Given the description of an element on the screen output the (x, y) to click on. 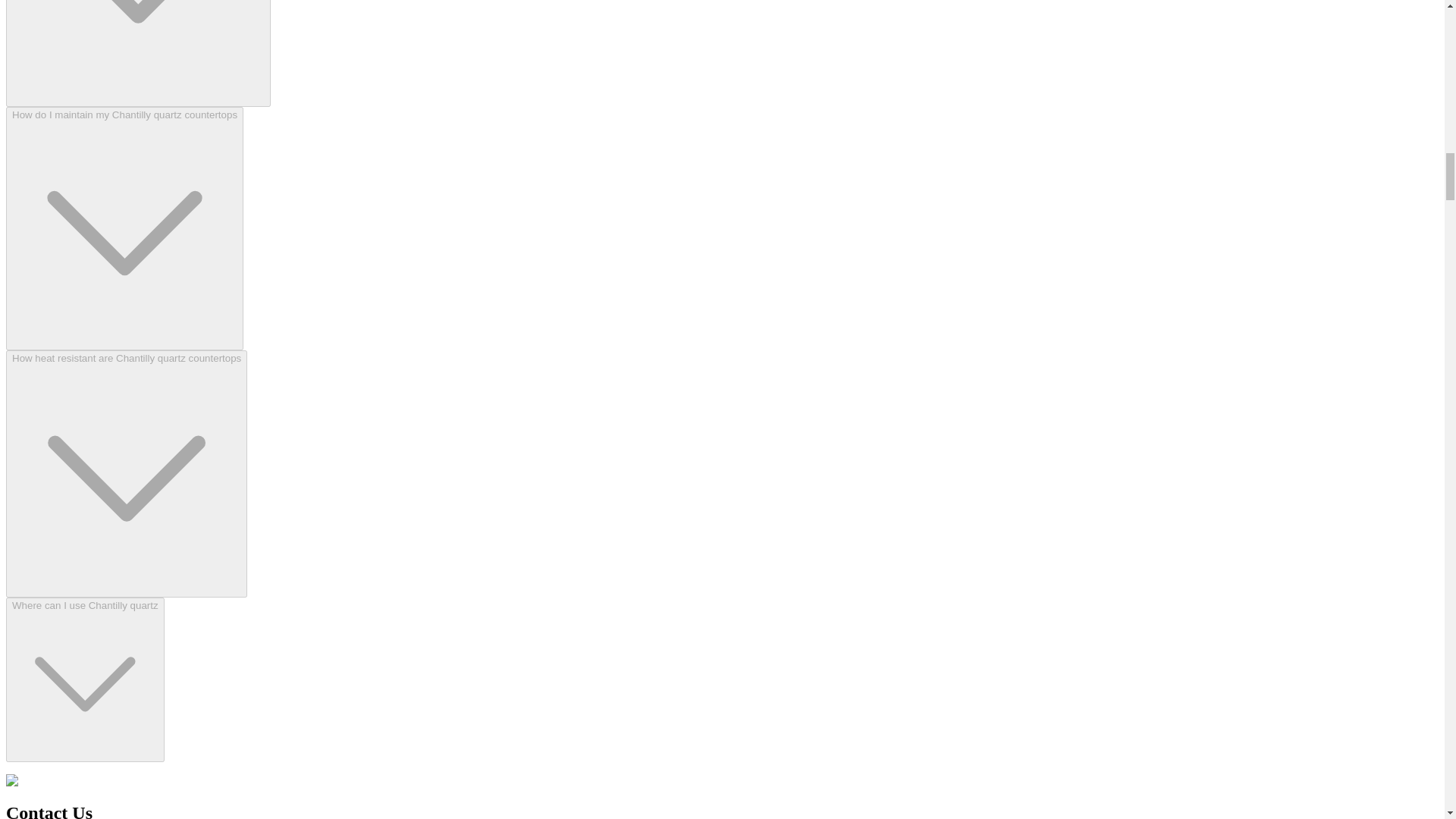
How heat resistant are Chantilly quartz countertops (126, 473)
How do I maintain my Chantilly quartz countertops (124, 228)
Where can I use Chantilly quartz (84, 679)
What are the advantages of Chantilly quartz countertops (137, 53)
